Given the description of an element on the screen output the (x, y) to click on. 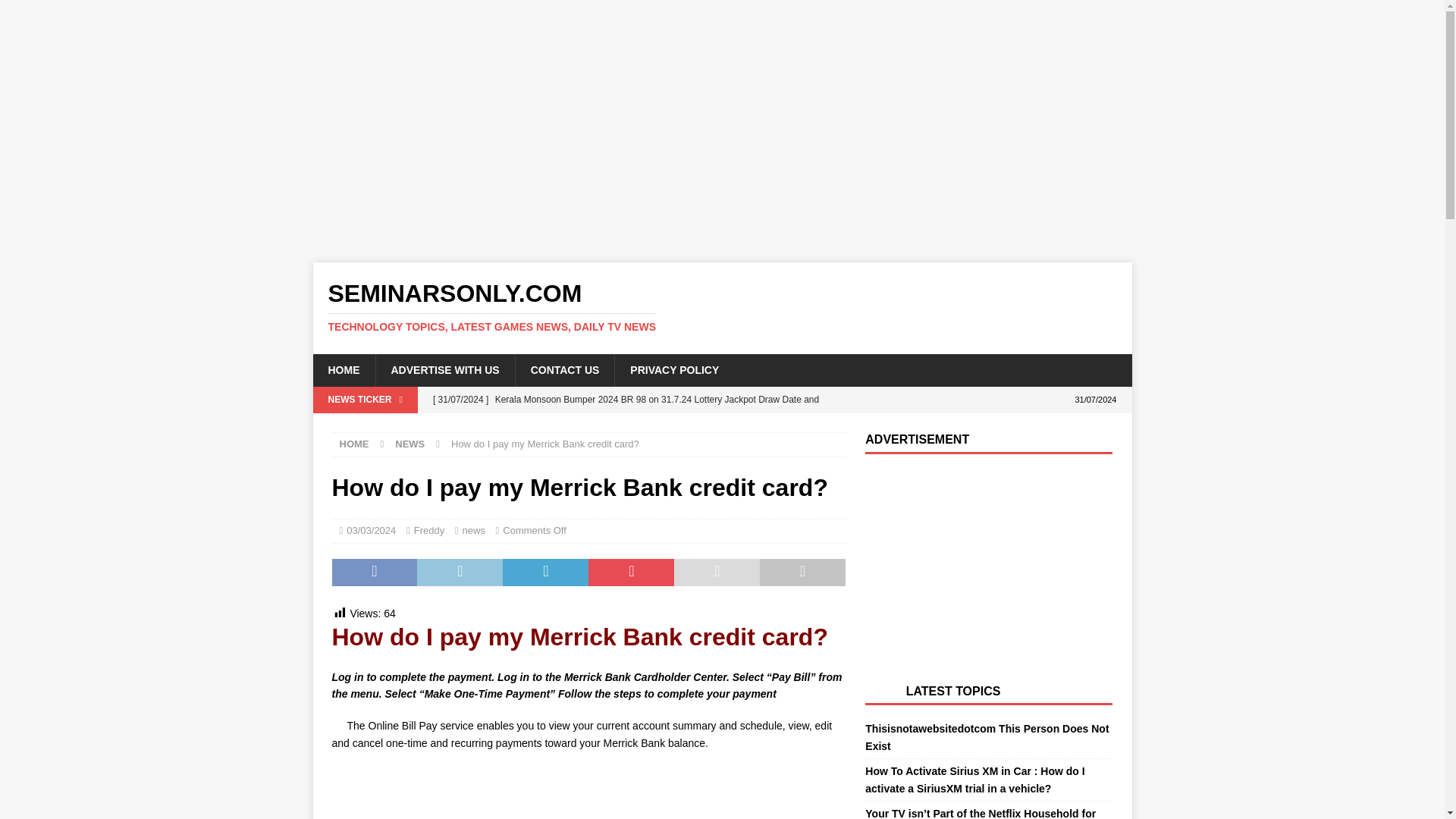
Seminarsonly.com (721, 306)
Freddy (428, 530)
ADVERTISE WITH US (443, 369)
HOME (343, 369)
NEWS (409, 443)
news (473, 530)
CONTACT US (564, 369)
PRIVACY POLICY (673, 369)
HOME (354, 443)
